Given the description of an element on the screen output the (x, y) to click on. 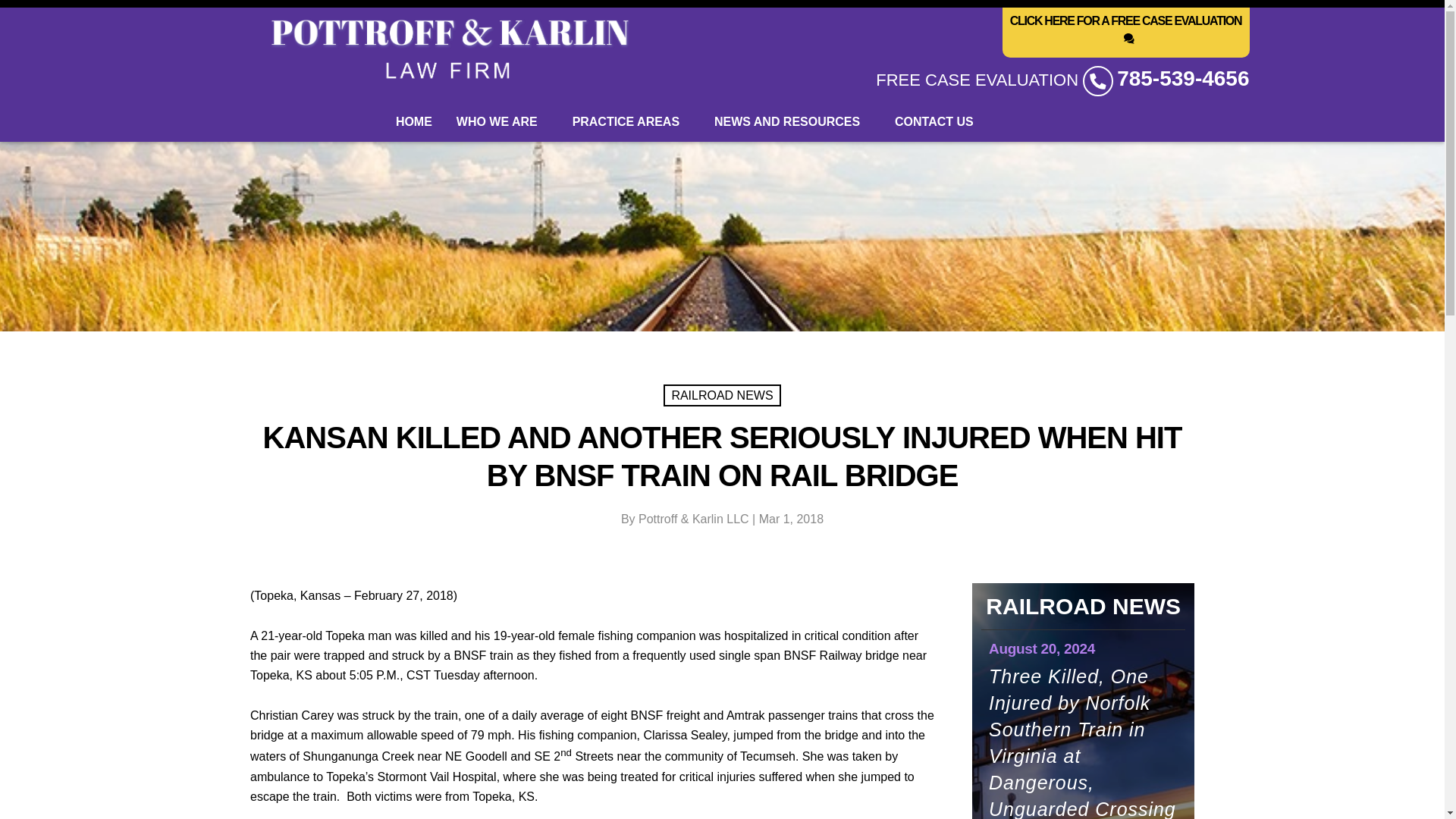
PRACTICE AREAS (630, 122)
WHO WE ARE (501, 122)
785-539-4656 (1182, 78)
CLICK HERE FOR A FREE CASE EVALUATION (1126, 32)
HOME (414, 122)
